Given the description of an element on the screen output the (x, y) to click on. 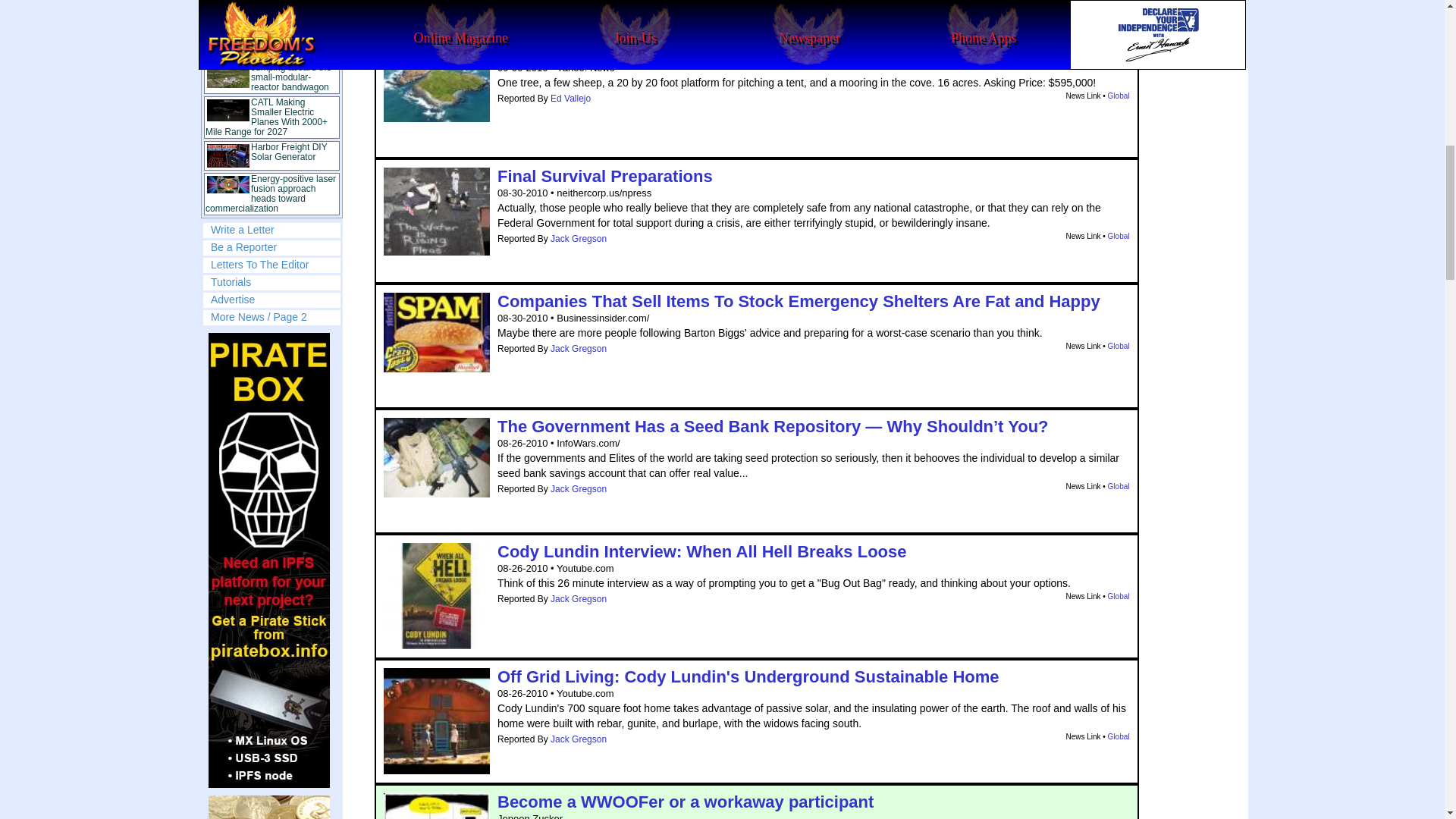
Top Links (271, 109)
